Given the description of an element on the screen output the (x, y) to click on. 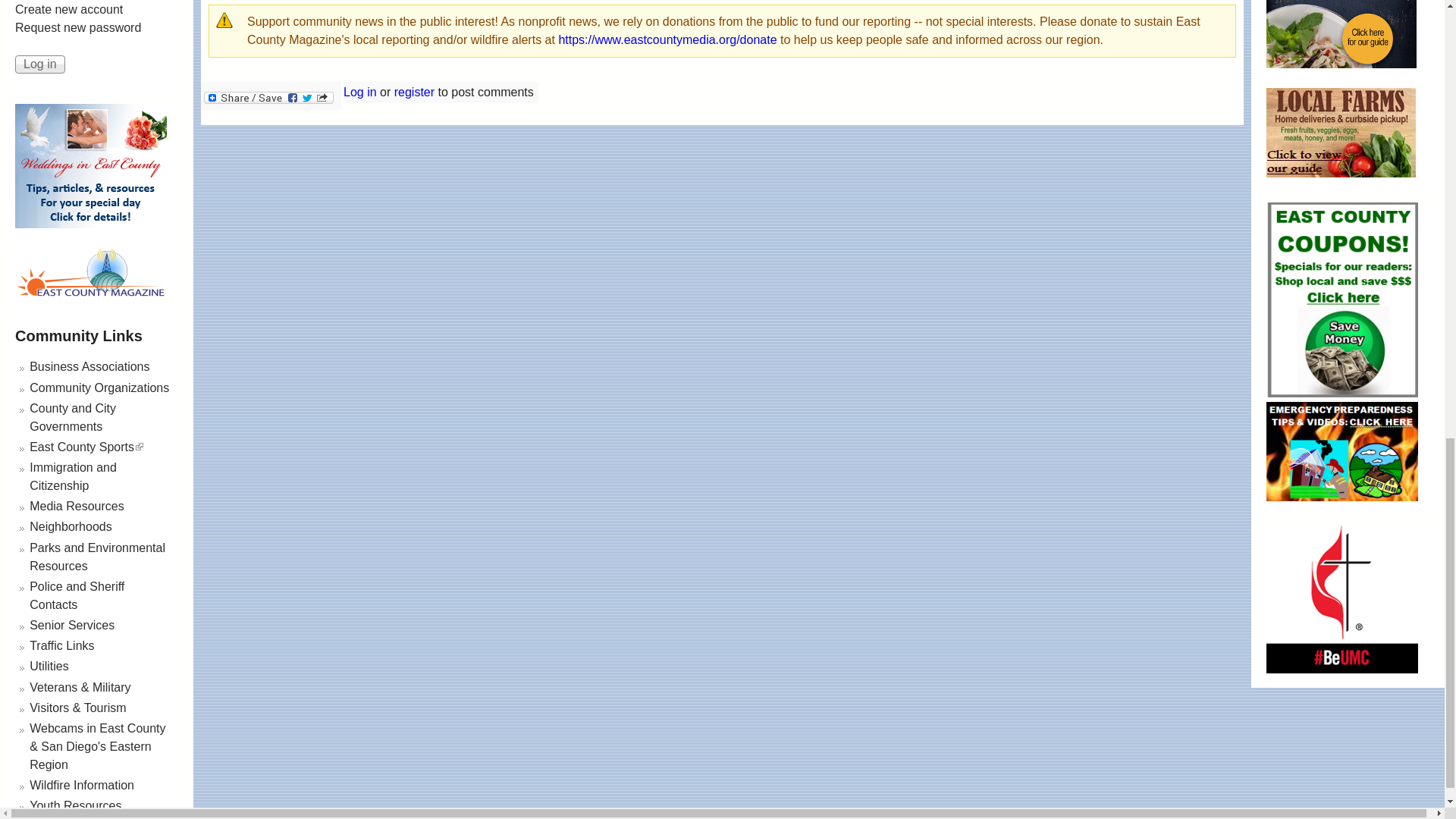
Log in (39, 64)
